Given the description of an element on the screen output the (x, y) to click on. 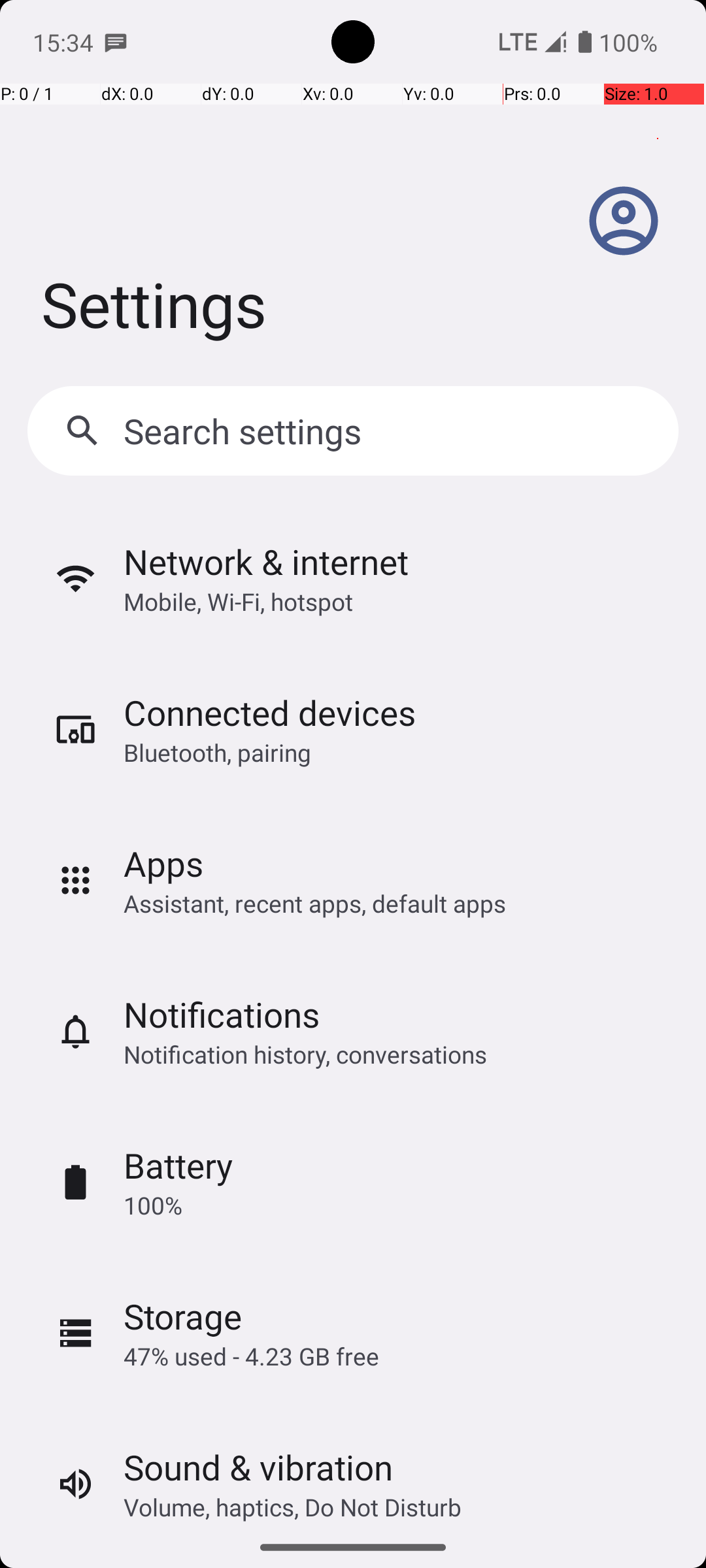
47% used - 4.23 GB free Element type: android.widget.TextView (251, 1355)
